Given the description of an element on the screen output the (x, y) to click on. 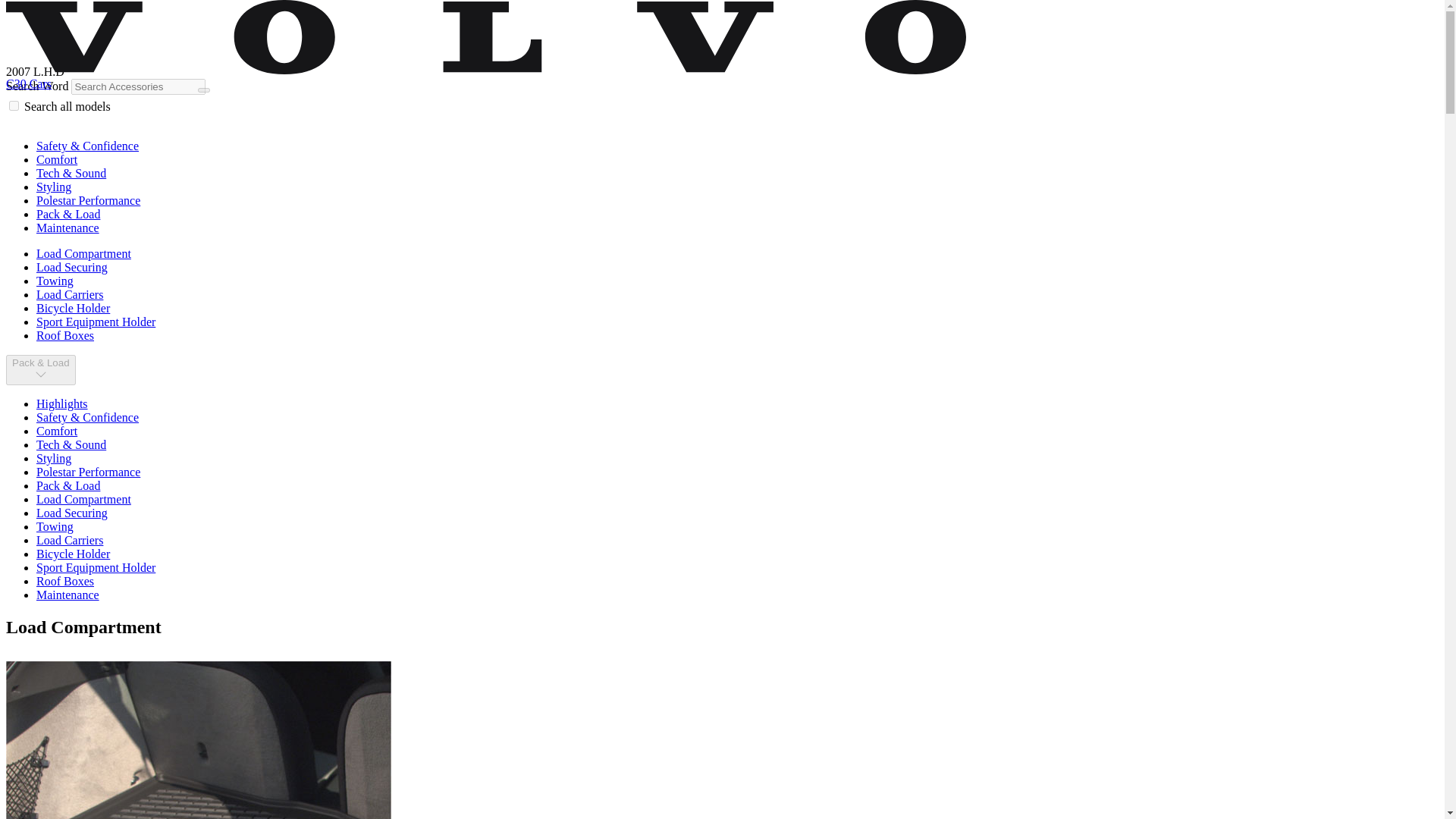
Polestar Performance (87, 472)
Load Securing (71, 267)
yes (13, 105)
Highlights (61, 403)
Maintenance (67, 594)
Sport Equipment Holder (95, 321)
Comfort (56, 159)
Roof Boxes (65, 581)
Maintenance (67, 227)
Load Carriers (69, 540)
